Given the description of an element on the screen output the (x, y) to click on. 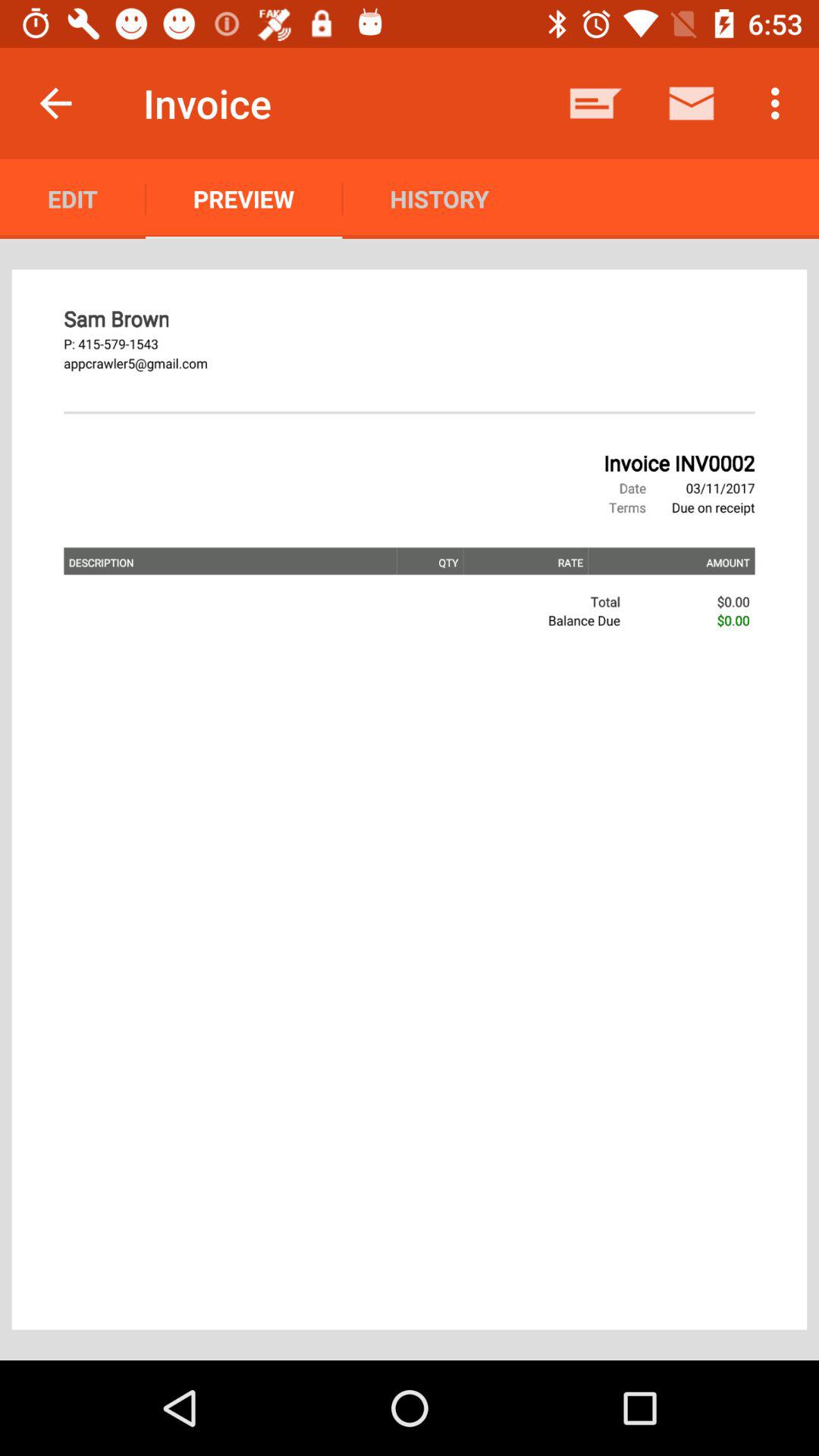
choose app to the right of the history app (595, 103)
